Given the description of an element on the screen output the (x, y) to click on. 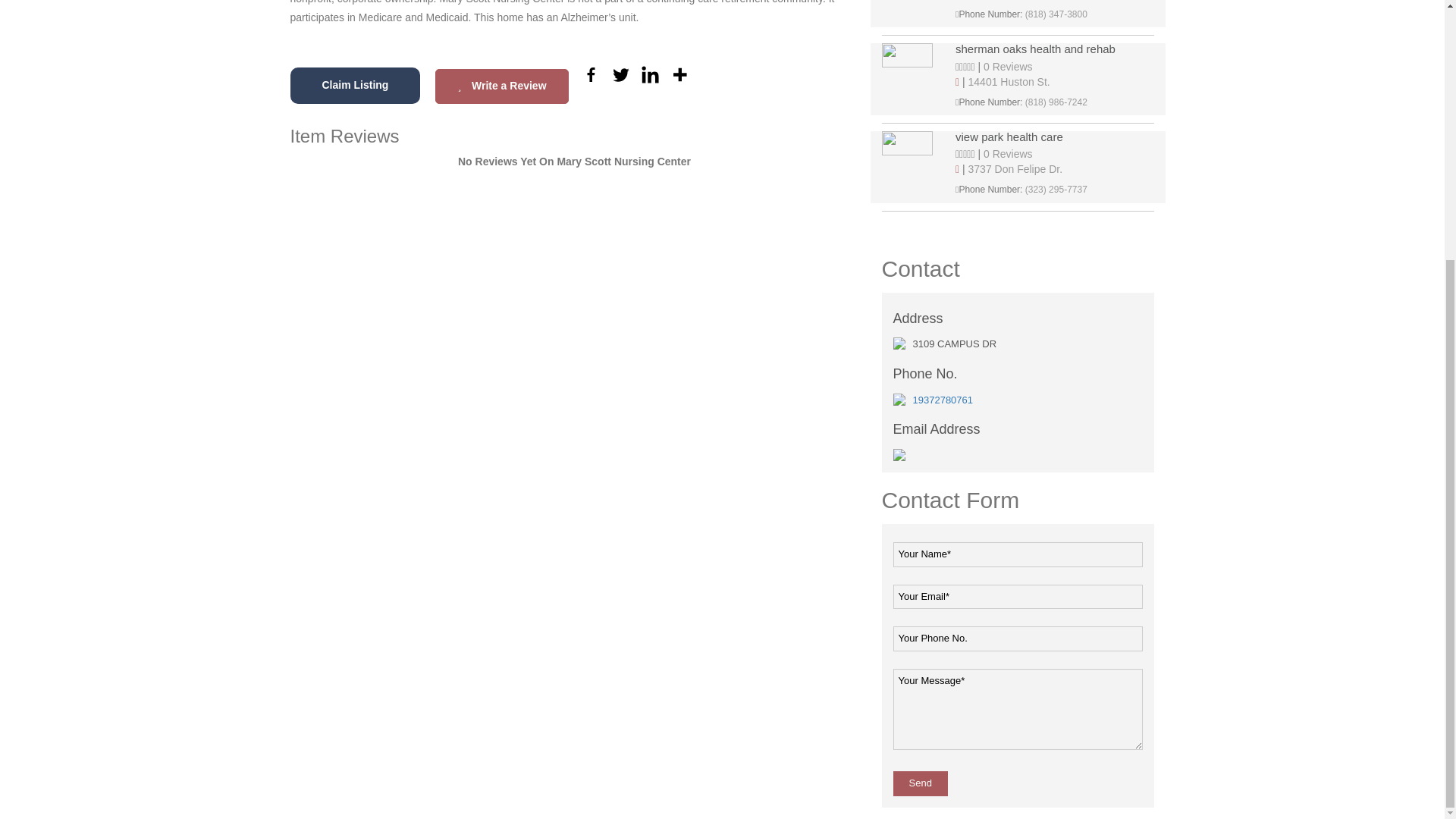
19372780761 (943, 399)
Write a Review (501, 86)
Facebook (591, 74)
Linkedin (650, 74)
Twitter (620, 74)
Claim Listing (354, 85)
14401 Huston St. (1008, 81)
Send (920, 783)
0 Reviews (1008, 66)
view park health care (1054, 137)
sherman oaks health and rehab (1054, 49)
More (679, 74)
3737 Don Felipe Dr. (1015, 168)
0 Reviews (1008, 153)
